Given the description of an element on the screen output the (x, y) to click on. 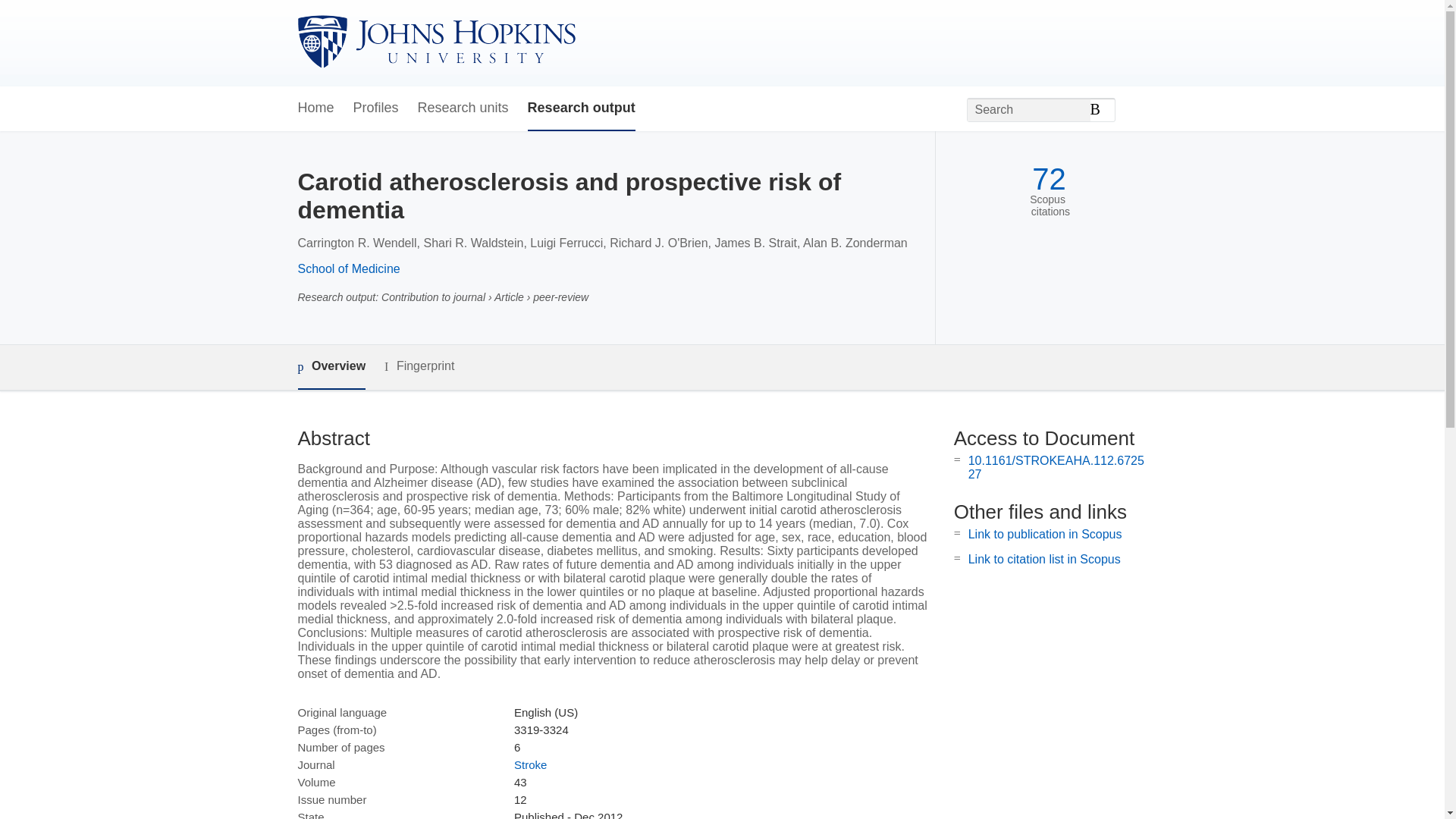
School of Medicine (347, 268)
Link to publication in Scopus (1045, 533)
Research output (580, 108)
Research units (462, 108)
Profiles (375, 108)
72 (1048, 179)
Fingerprint (419, 366)
Johns Hopkins University Home (436, 43)
Overview (331, 366)
Stroke (530, 764)
Link to citation list in Scopus (1044, 558)
